Given the description of an element on the screen output the (x, y) to click on. 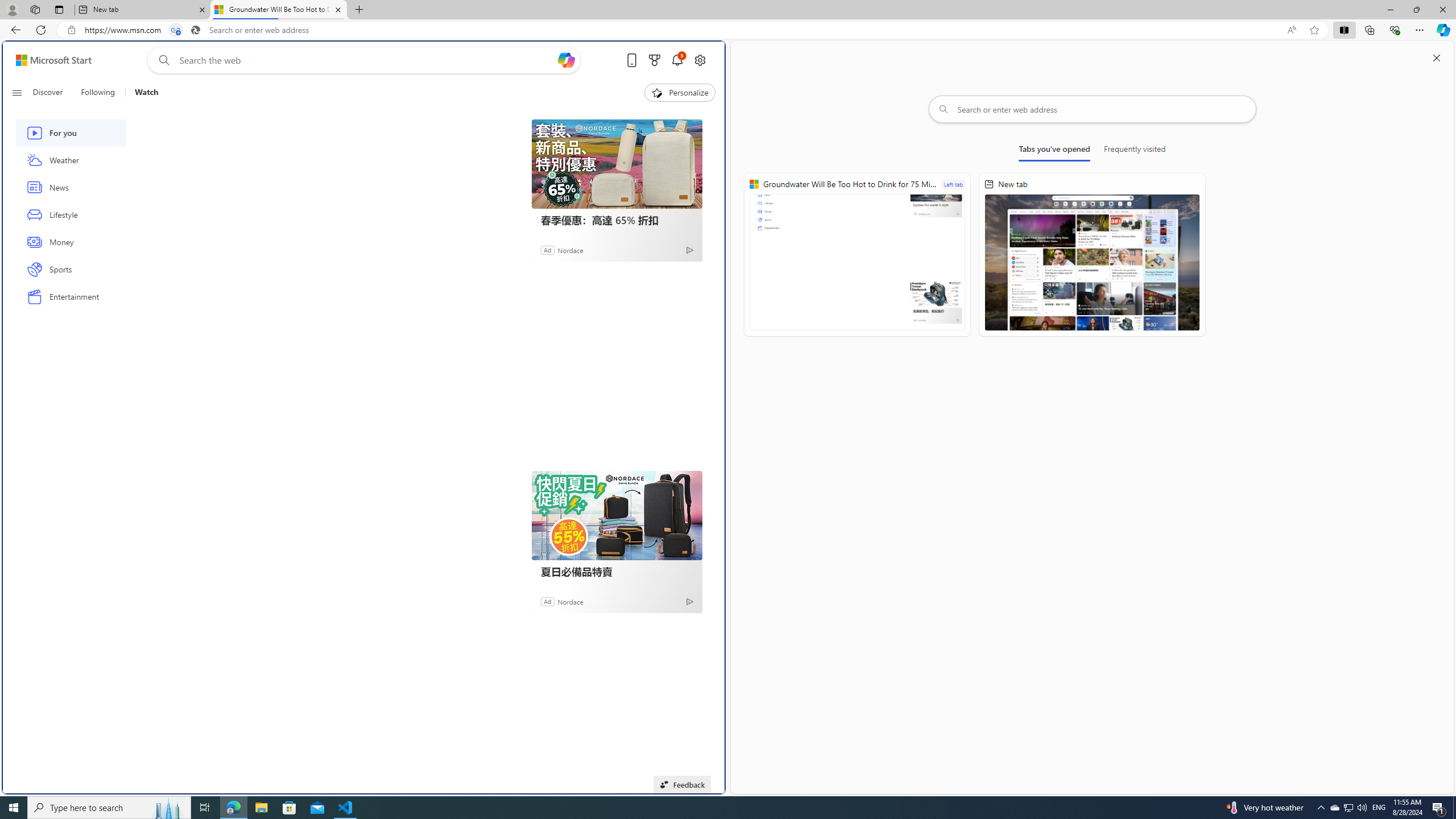
Address and search bar (680, 29)
Close split screen (1436, 57)
Frequently visited (1134, 151)
Tabs in split screen (175, 29)
Following (98, 92)
Discover (47, 92)
Microsoft rewards (654, 60)
Feedback (681, 784)
